Given the description of an element on the screen output the (x, y) to click on. 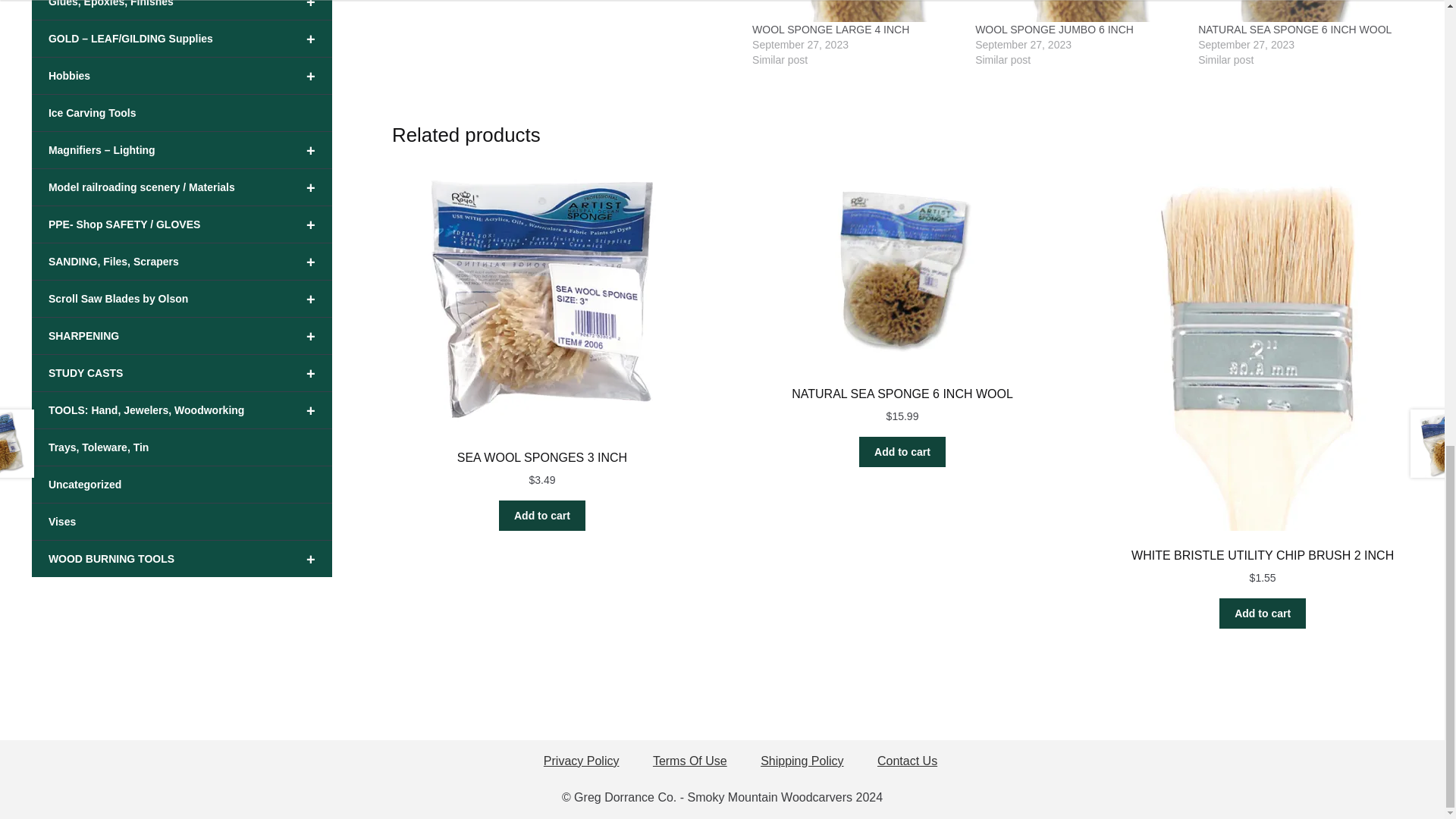
WOOL SPONGE JUMBO 6 INCH (1078, 11)
NATURAL SEA SPONGE 6 INCH  WOOL (1294, 29)
WOOL SPONGE JUMBO 6 INCH (1054, 29)
Add to cart (901, 451)
Add to cart (1263, 613)
WOOL SPONGE JUMBO 6 INCH (1054, 29)
WOOL SPONGE LARGE 4 INCH (830, 29)
NATURAL SEA SPONGE 6 INCH  WOOL (1302, 11)
WOOL SPONGE LARGE 4 INCH (855, 11)
Add to cart (542, 515)
NATURAL SEA SPONGE 6 INCH WOOL (1294, 29)
WOOL SPONGE LARGE 4 INCH (830, 29)
